Given the description of an element on the screen output the (x, y) to click on. 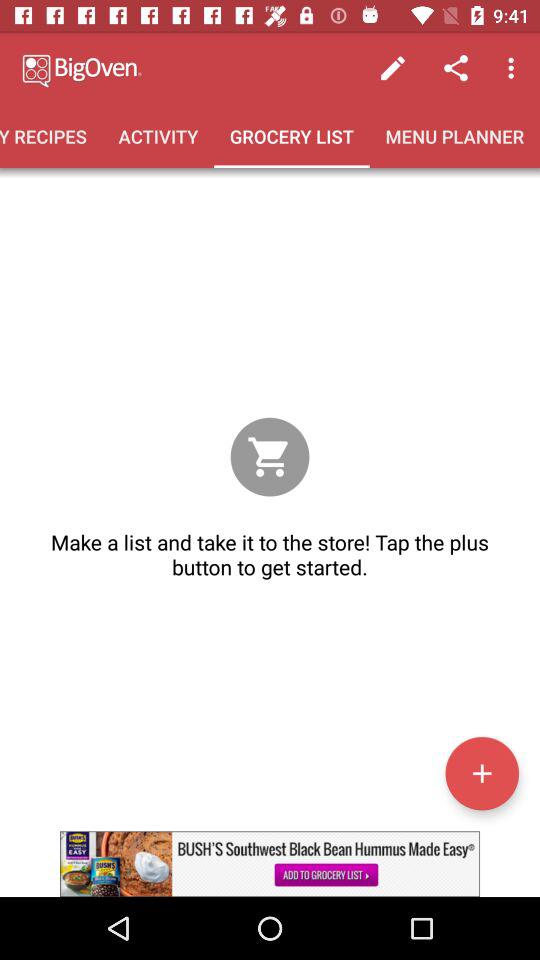
get started (482, 773)
